Given the description of an element on the screen output the (x, y) to click on. 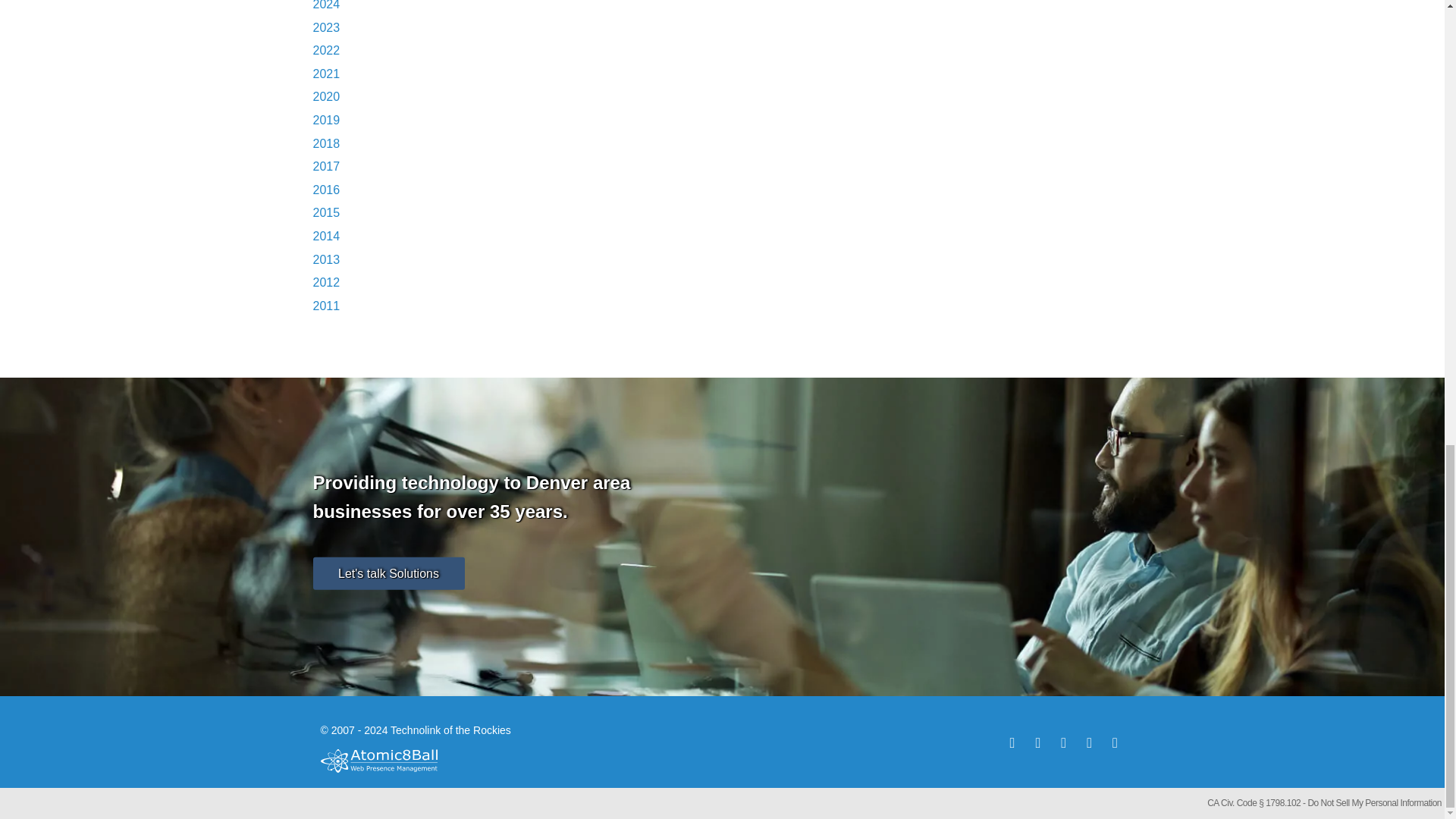
2020 (326, 96)
2021 (326, 73)
2019 (326, 119)
Google My BUsiness (1087, 742)
2022 (326, 50)
2024 (326, 5)
2023 (326, 27)
YouTube (1113, 742)
Facebook (1035, 742)
LinkedIn (1061, 742)
Blog Articles (1010, 742)
